Given the description of an element on the screen output the (x, y) to click on. 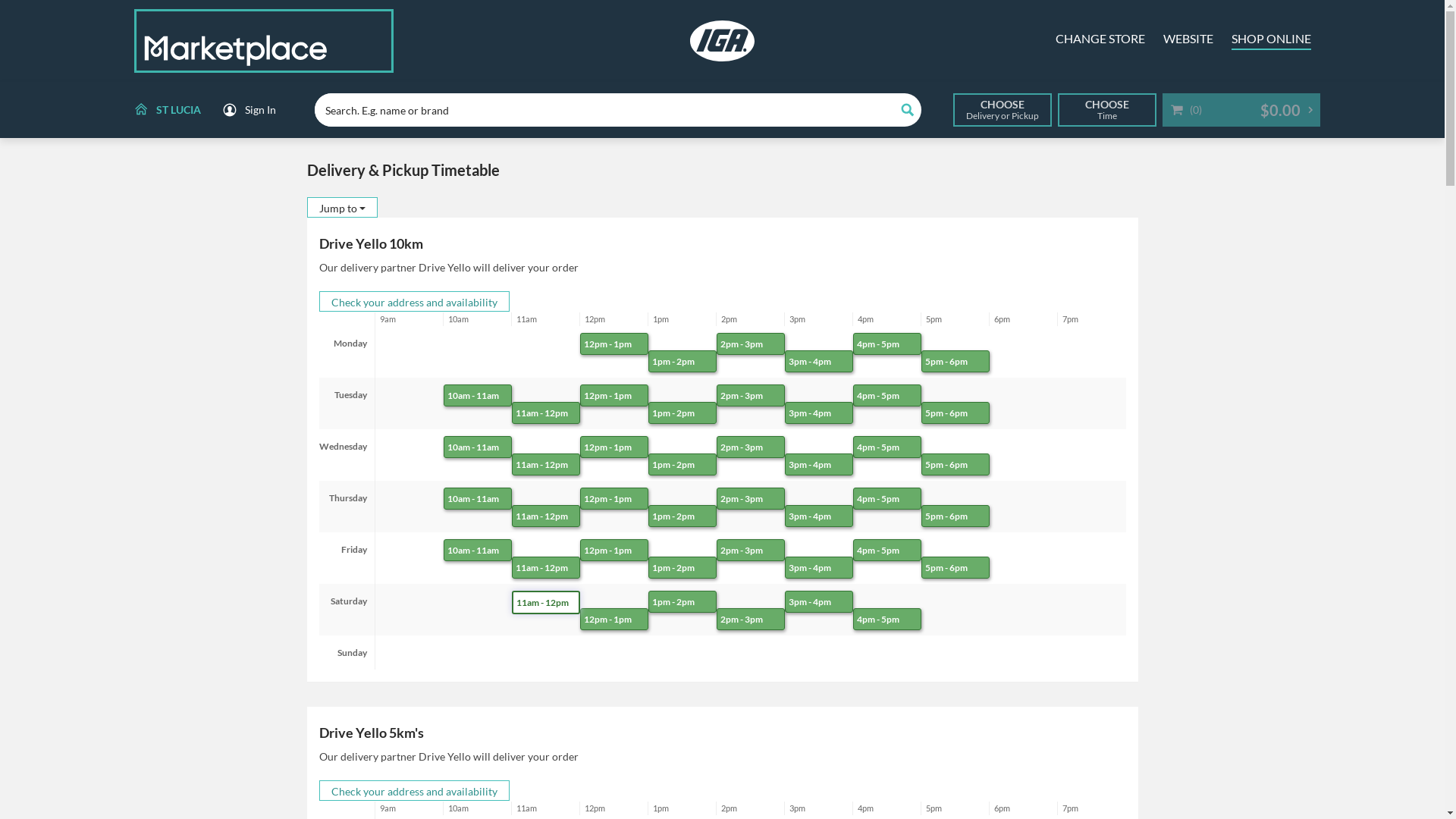
Check your address and availability Element type: text (413, 790)
SHOP ONLINE Element type: text (1271, 40)
WEBSITE Element type: text (1188, 40)
ST LUCIA Element type: text (165, 109)
CHOOSE
Time Element type: text (1106, 109)
Jump to Element type: text (341, 207)
Search Element type: hover (906, 109)
Sign In Element type: text (247, 109)
Check your address and availability Element type: text (413, 301)
CHOOSE
Delivery or Pickup Element type: text (1001, 109)
CHANGE STORE Element type: text (1100, 40)
(0)
$0.00 Element type: text (1240, 109)
